Given the description of an element on the screen output the (x, y) to click on. 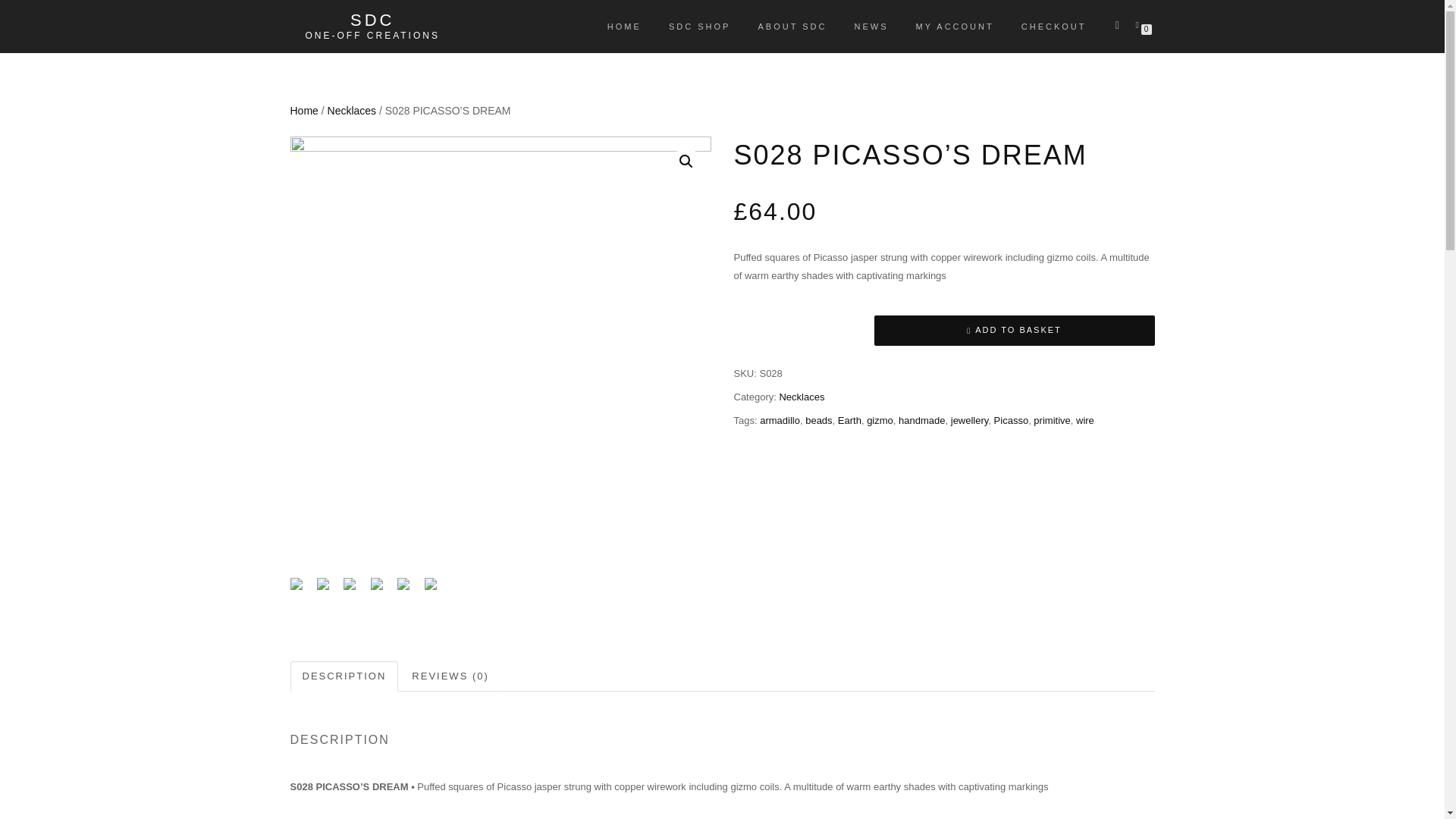
ABOUT SDC (791, 26)
ONE-OFF CREATIONS (371, 35)
SDC (371, 20)
0 (1139, 23)
gizmo (879, 419)
Home (303, 110)
CHECKOUT (1053, 26)
wire (1084, 419)
HOME (623, 26)
Picasso (1011, 419)
